Given the description of an element on the screen output the (x, y) to click on. 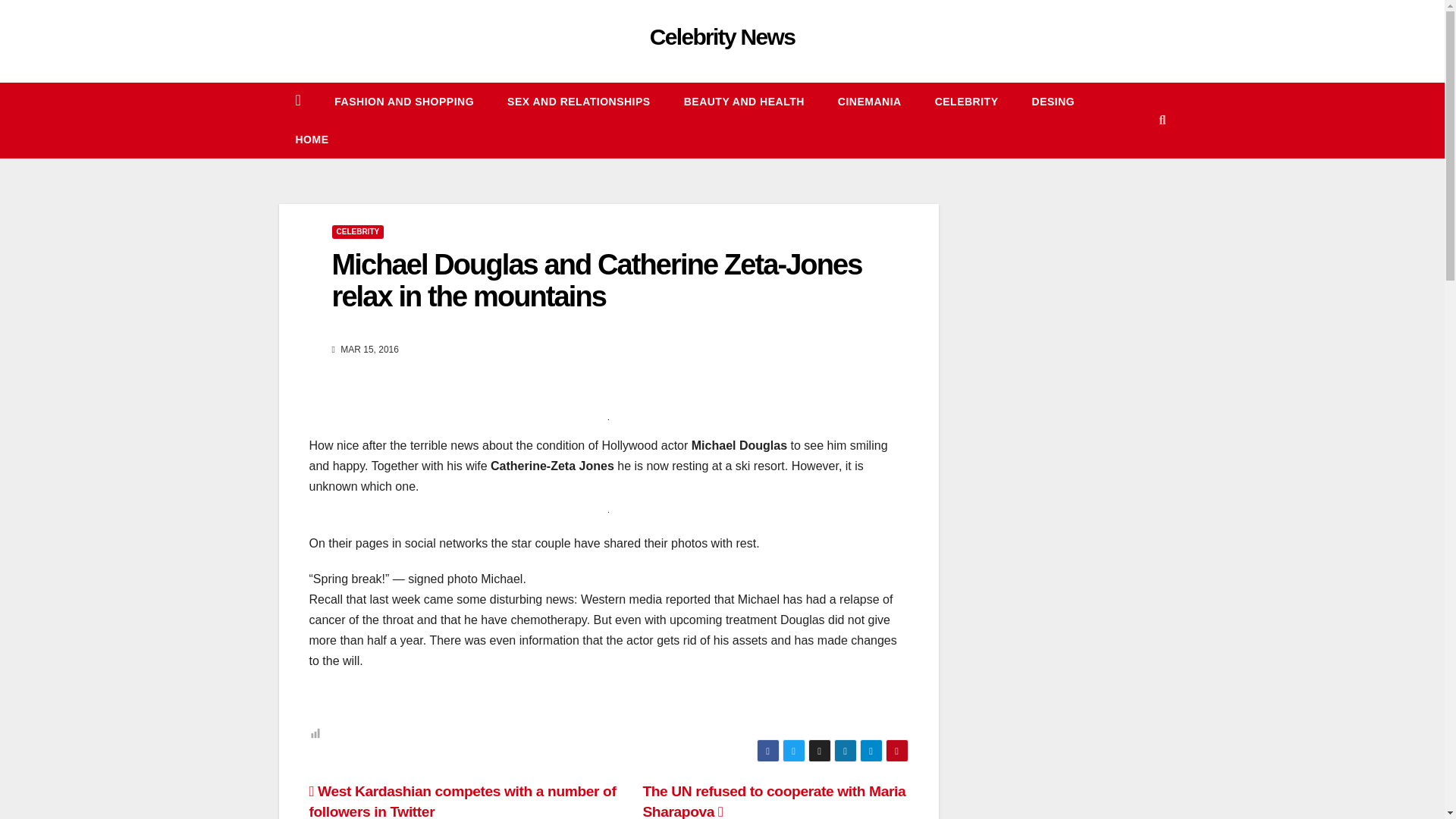
SEX AND RELATIONSHIPS (578, 101)
CELEBRITY (966, 101)
FASHION AND SHOPPING (403, 101)
CINEMANIA (869, 101)
CELEBRITY (966, 101)
BEAUTY AND HEALTH (743, 101)
DESING (1053, 101)
DESING (1053, 101)
HOME (312, 139)
